Given the description of an element on the screen output the (x, y) to click on. 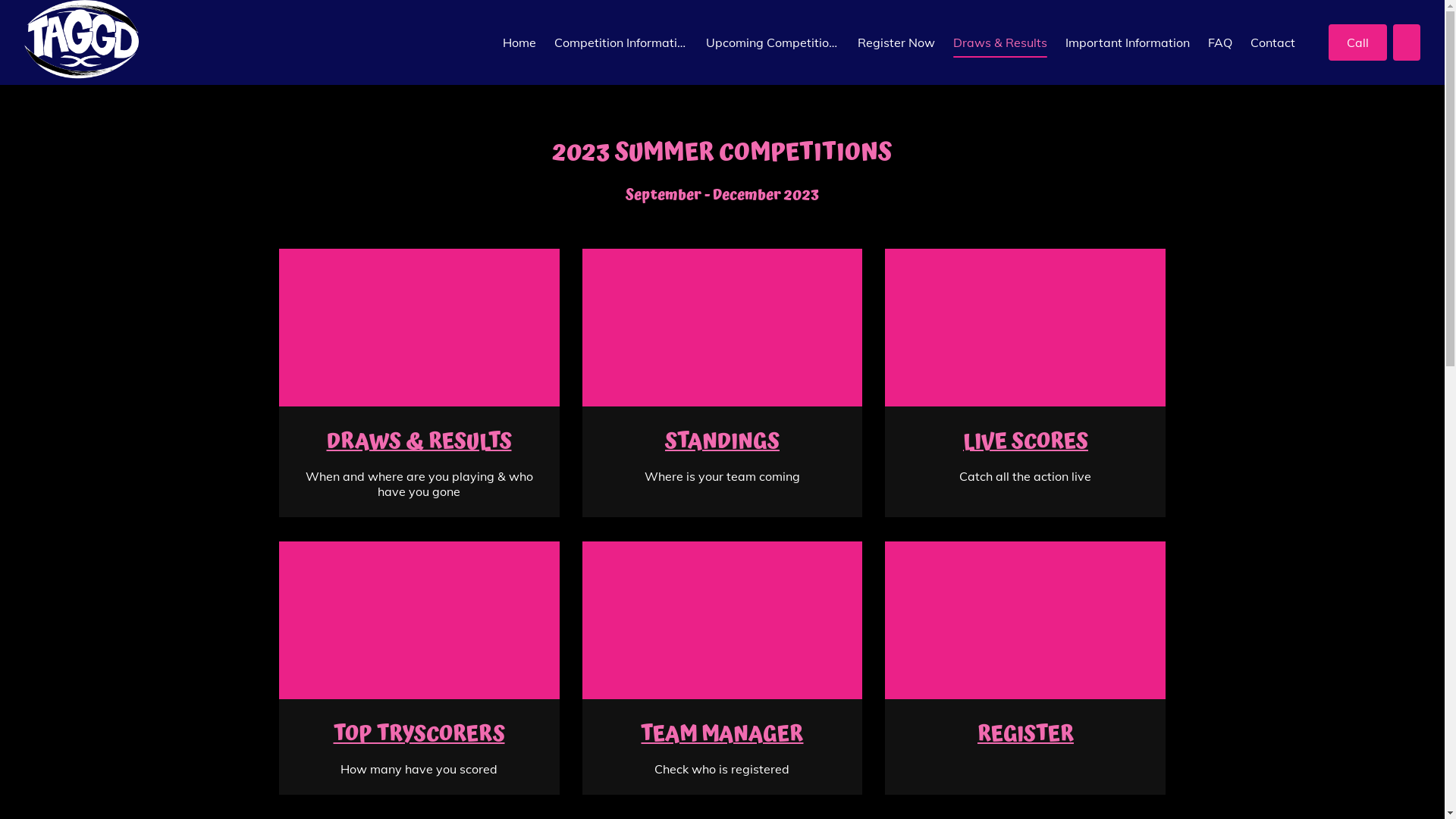
Register Now Element type: text (896, 42)
LIVE SCORES Element type: text (1025, 441)
Contact Element type: text (1272, 42)
Home Element type: text (519, 42)
Upcoming Competitions Element type: text (772, 42)
REGISTER Element type: text (1025, 734)
DRAWS & RESULTS Element type: text (418, 441)
Competition Information Element type: text (620, 42)
Important Information Element type: text (1127, 42)
STANDINGS Element type: text (722, 441)
FAQ Element type: text (1219, 42)
Call Element type: text (1357, 42)
Draws & Results Element type: text (1000, 42)
TOP TRYSCORERS Element type: text (419, 734)
TEAM MANAGER Element type: text (721, 734)
